Given the description of an element on the screen output the (x, y) to click on. 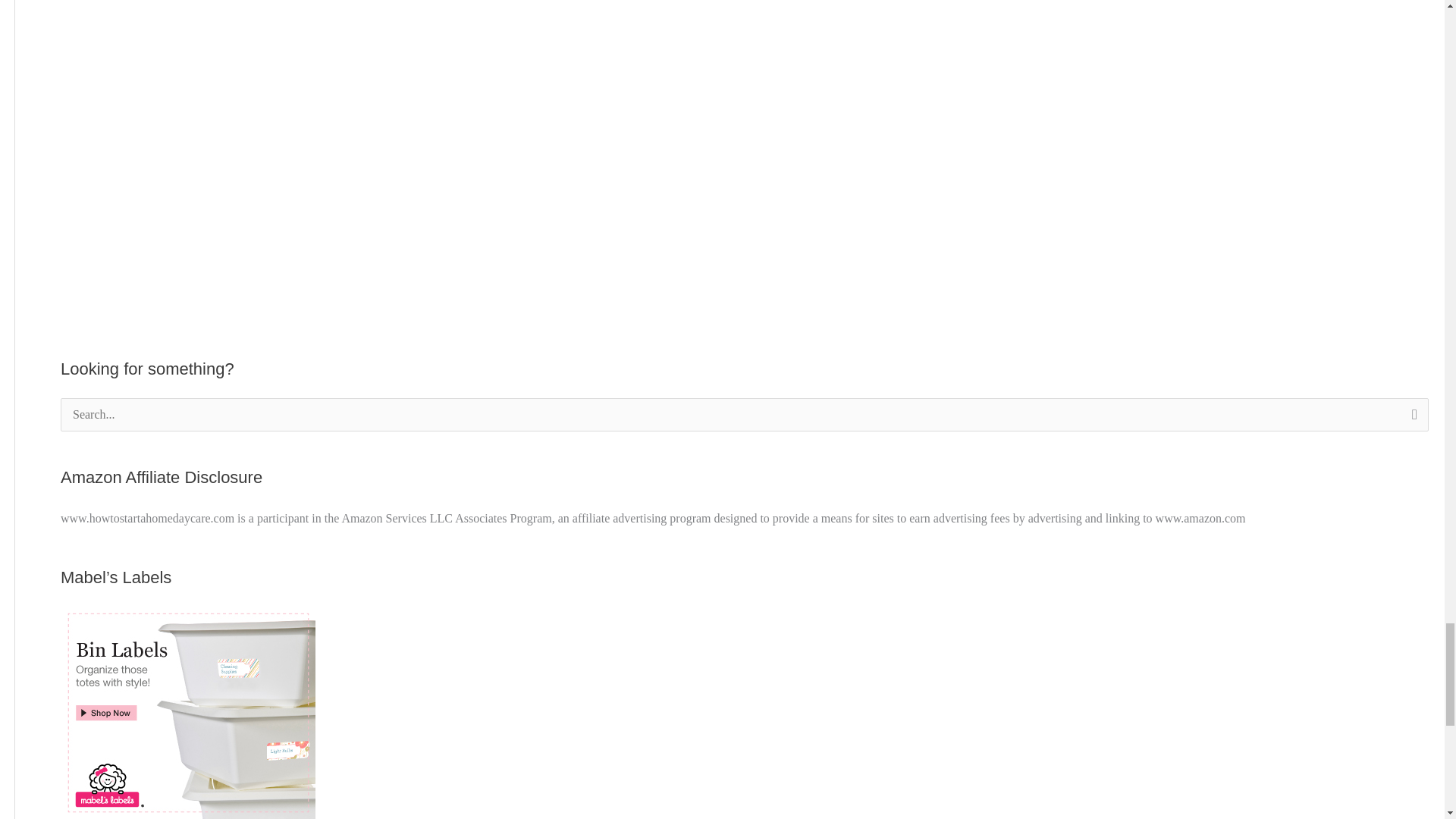
Search (1411, 419)
Search (1411, 419)
